Given the description of an element on the screen output the (x, y) to click on. 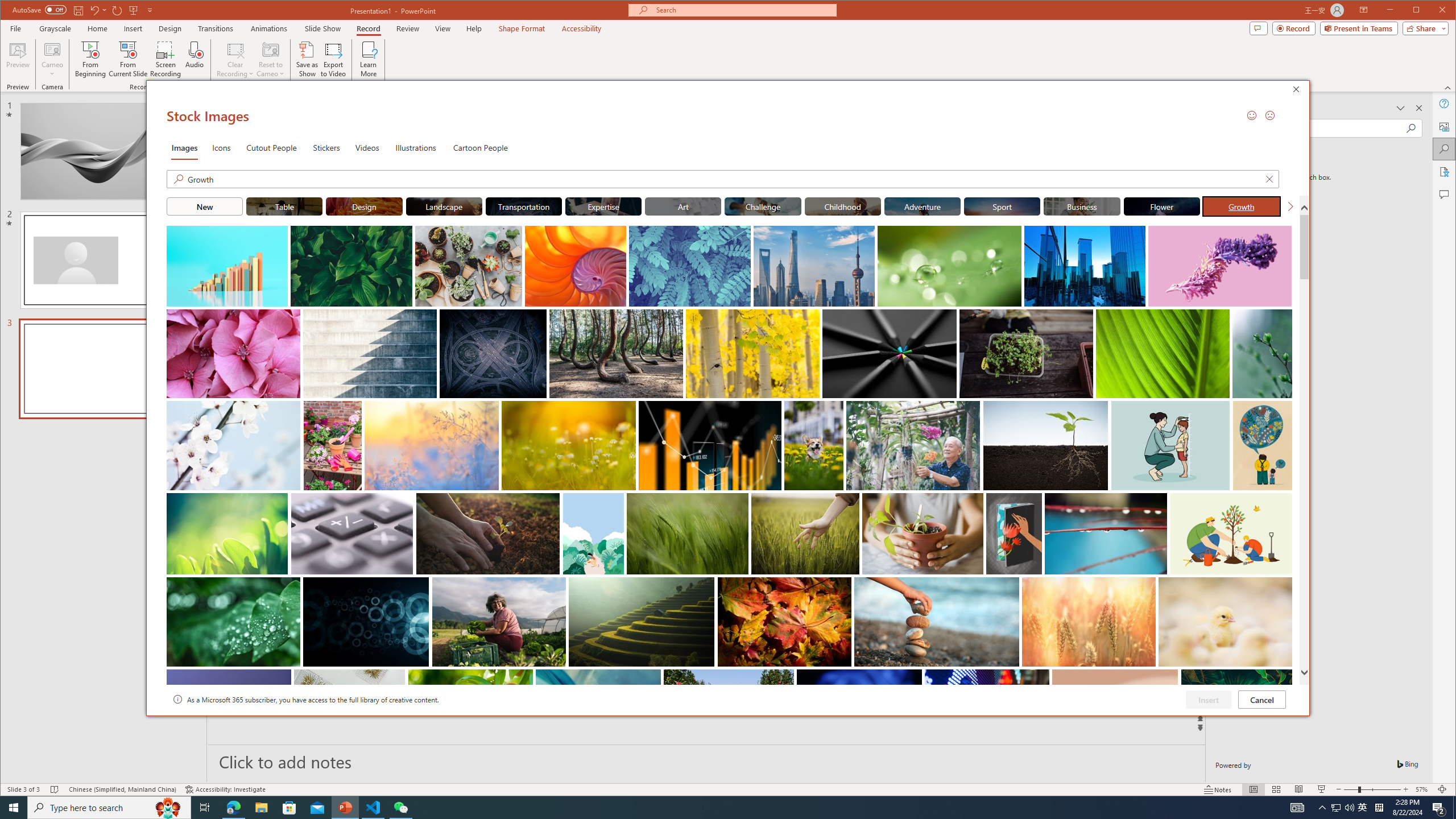
Cartoon People (479, 147)
Collapse the Ribbon (1448, 87)
More Options (52, 69)
Normal (1253, 789)
Action Center, 2 new notifications (1439, 807)
From Beginning (133, 9)
User Promoted Notification Area (1342, 807)
Running applications (707, 807)
Illustrations (415, 147)
